Given the description of an element on the screen output the (x, y) to click on. 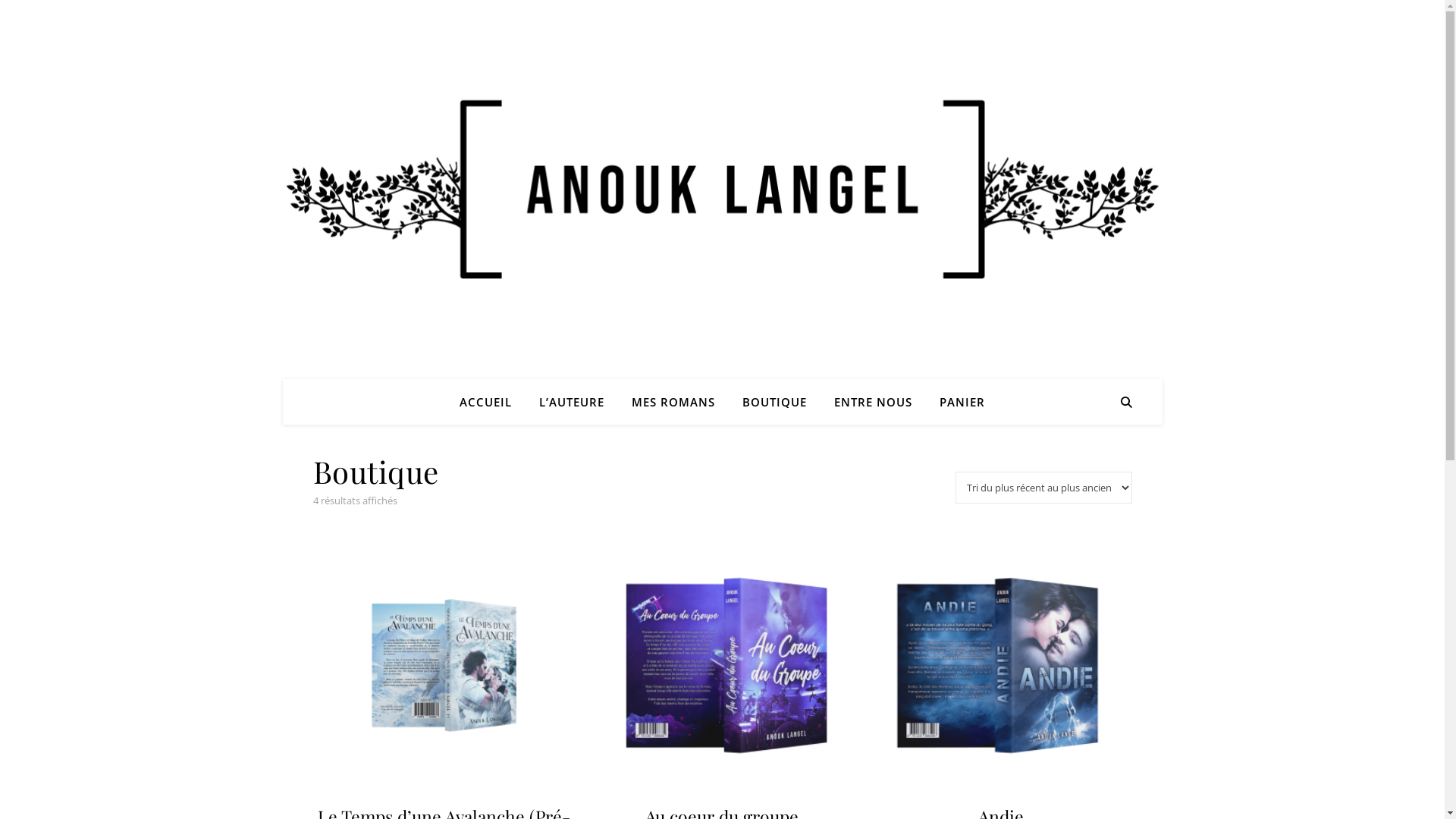
ACCUEIL Element type: text (491, 401)
MES ROMANS Element type: text (673, 401)
ENTRE NOUS Element type: text (873, 401)
BOUTIQUE Element type: text (774, 401)
PANIER Element type: text (956, 401)
